Given the description of an element on the screen output the (x, y) to click on. 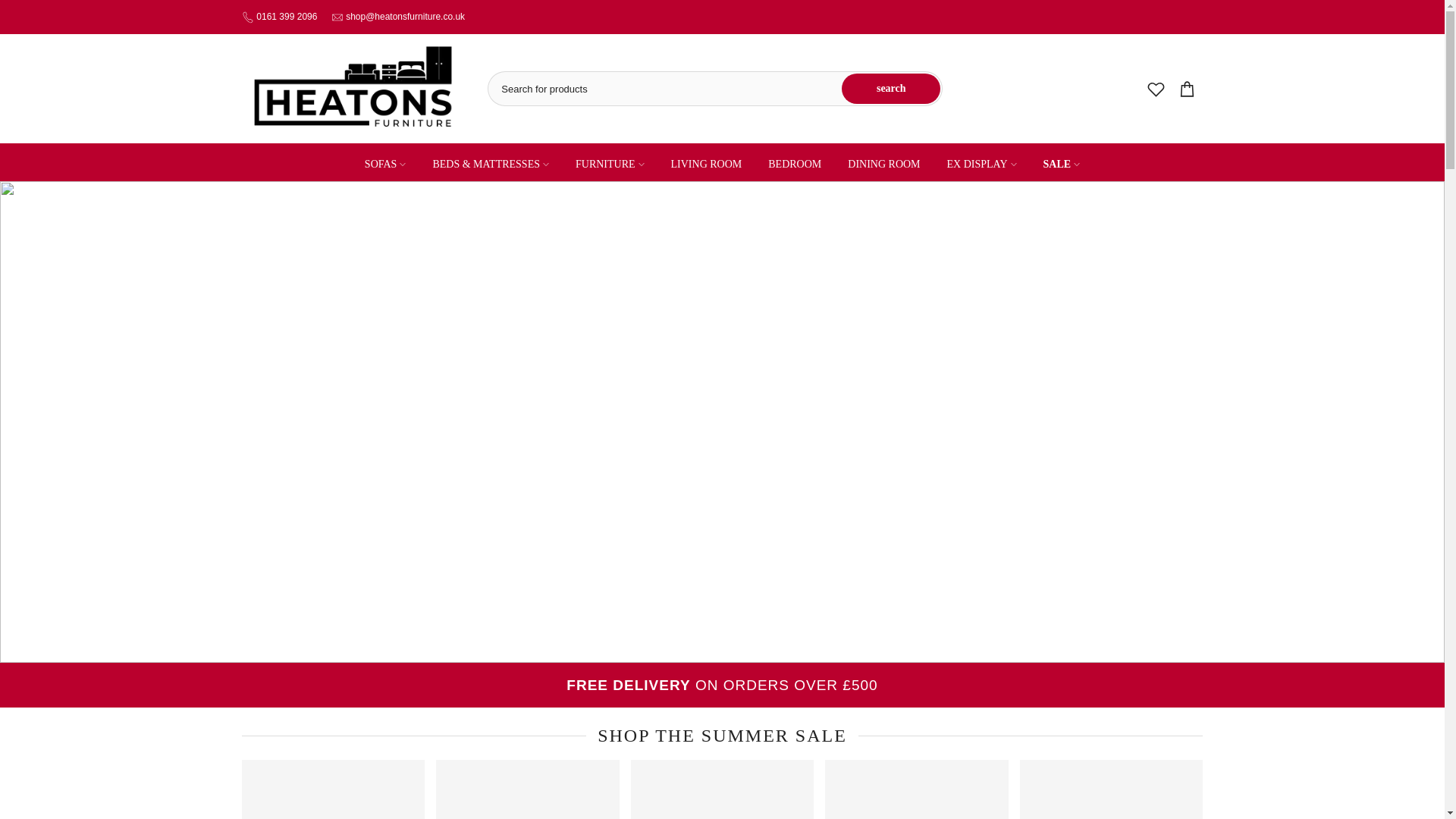
SALE (1061, 164)
search (890, 88)
SOFAS (384, 164)
LIVING ROOM (706, 164)
Skip to content (10, 7)
DINING ROOM (883, 164)
FURNITURE (610, 164)
BEDROOM (794, 164)
0161 399 2096 (286, 16)
EX DISPLAY (981, 164)
